Given the description of an element on the screen output the (x, y) to click on. 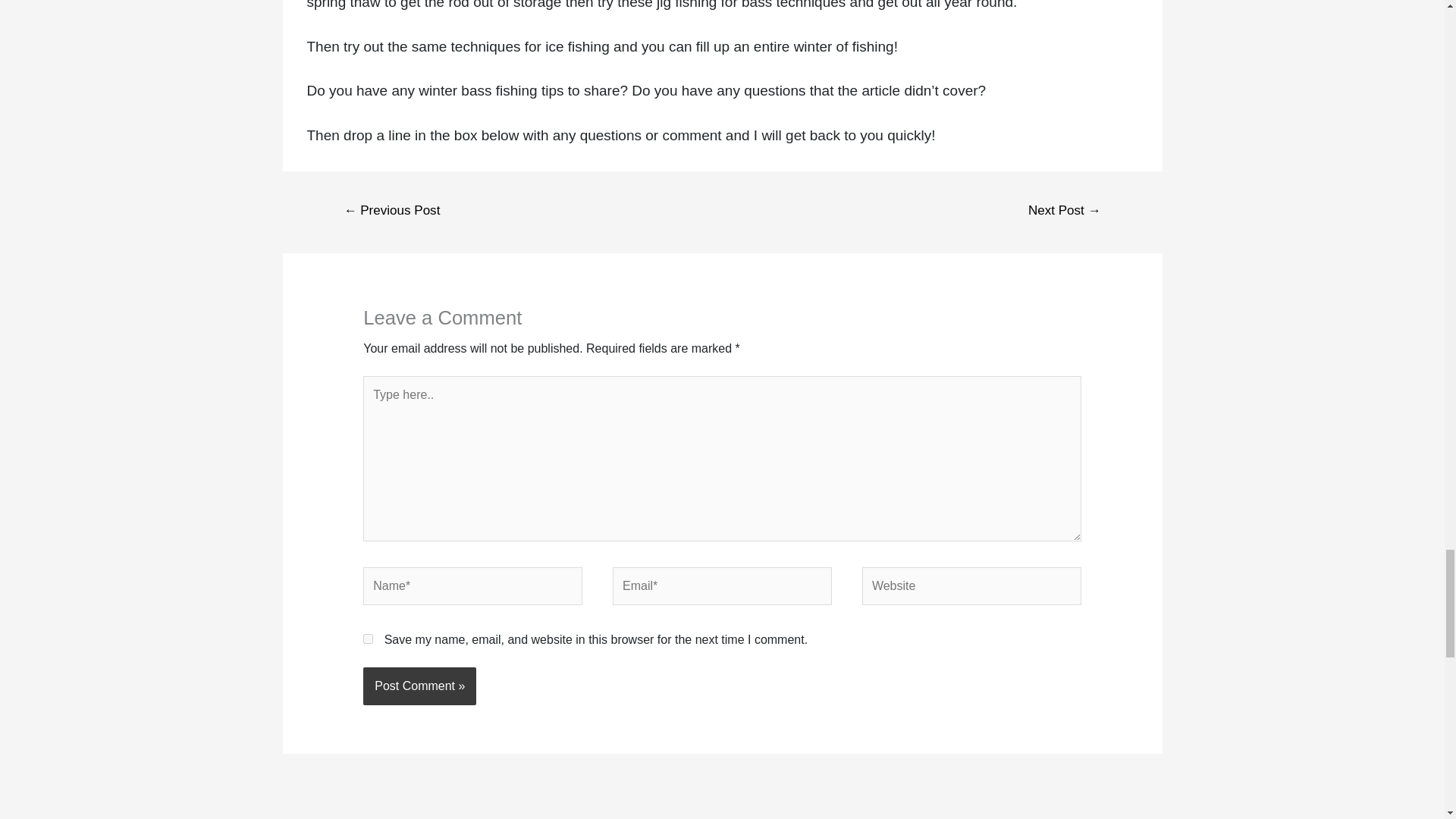
yes (367, 638)
